Given the description of an element on the screen output the (x, y) to click on. 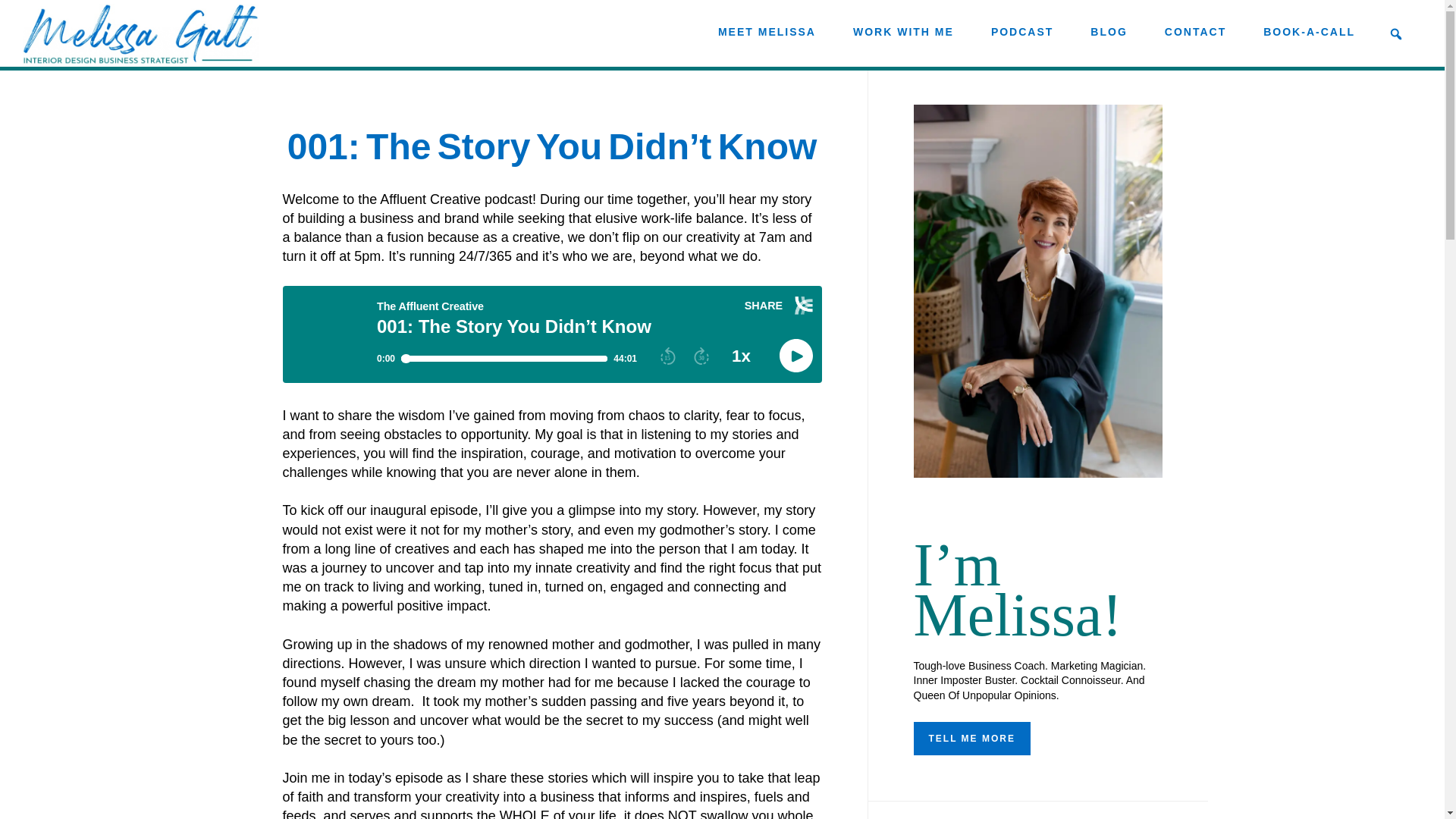
MELISSA GALT (141, 34)
PODCAST (1022, 31)
TELL ME MORE (970, 738)
Embed Player (551, 334)
CONTACT (1195, 31)
BOOK-A-CALL (1308, 31)
BLOG (1108, 31)
MEET MELISSA (766, 31)
WORK WITH ME (903, 31)
